Given the description of an element on the screen output the (x, y) to click on. 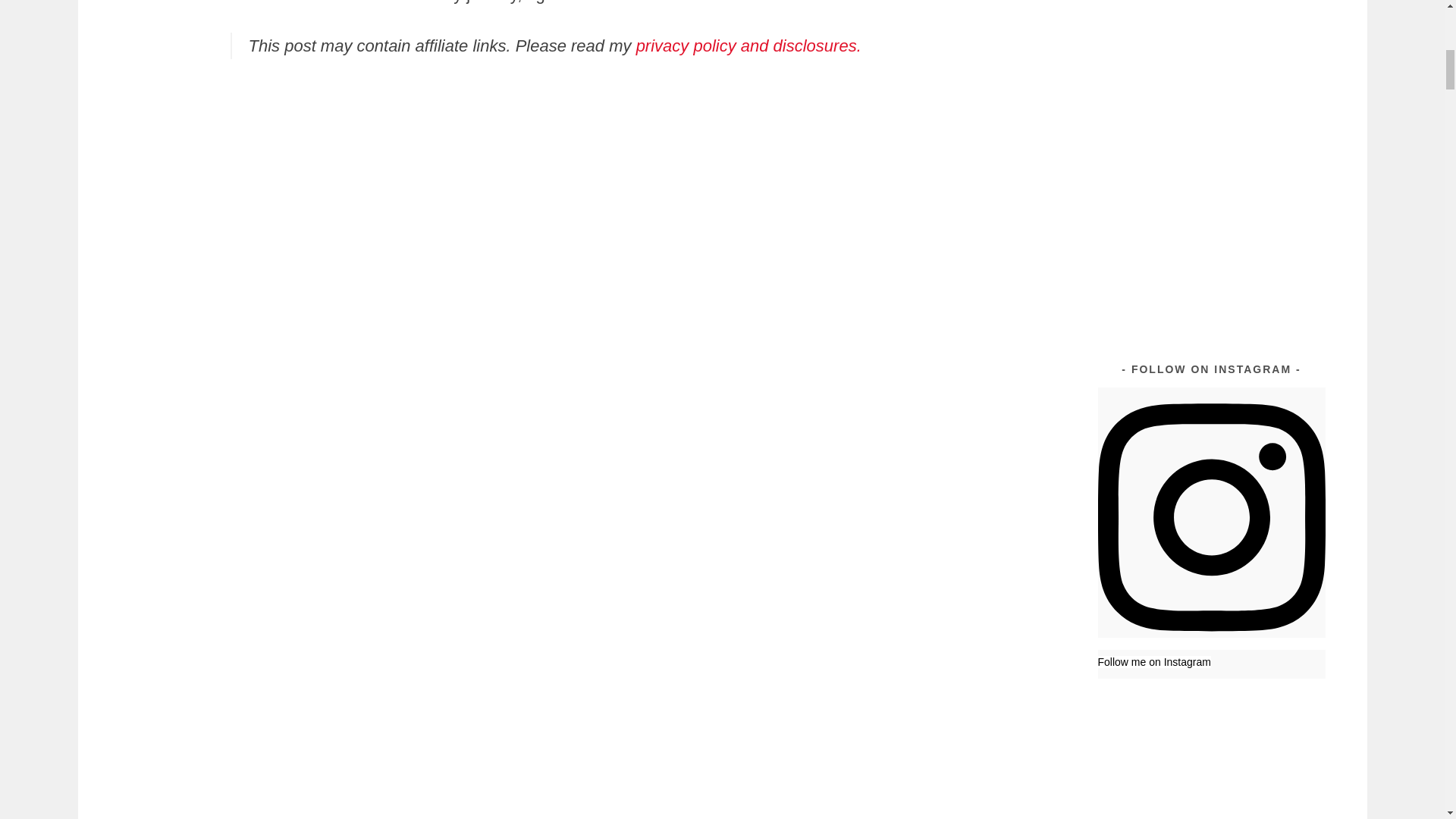
privacy policy and disclosures. (748, 45)
15 Genius Way to Upcycle Vintage Books (1153, 76)
Southwest Salad with 2-Ingredient Southwest Ranch Dressing (1267, 111)
Sew Pajama Pants from Vintage Sheets (1268, 30)
